Given the description of an element on the screen output the (x, y) to click on. 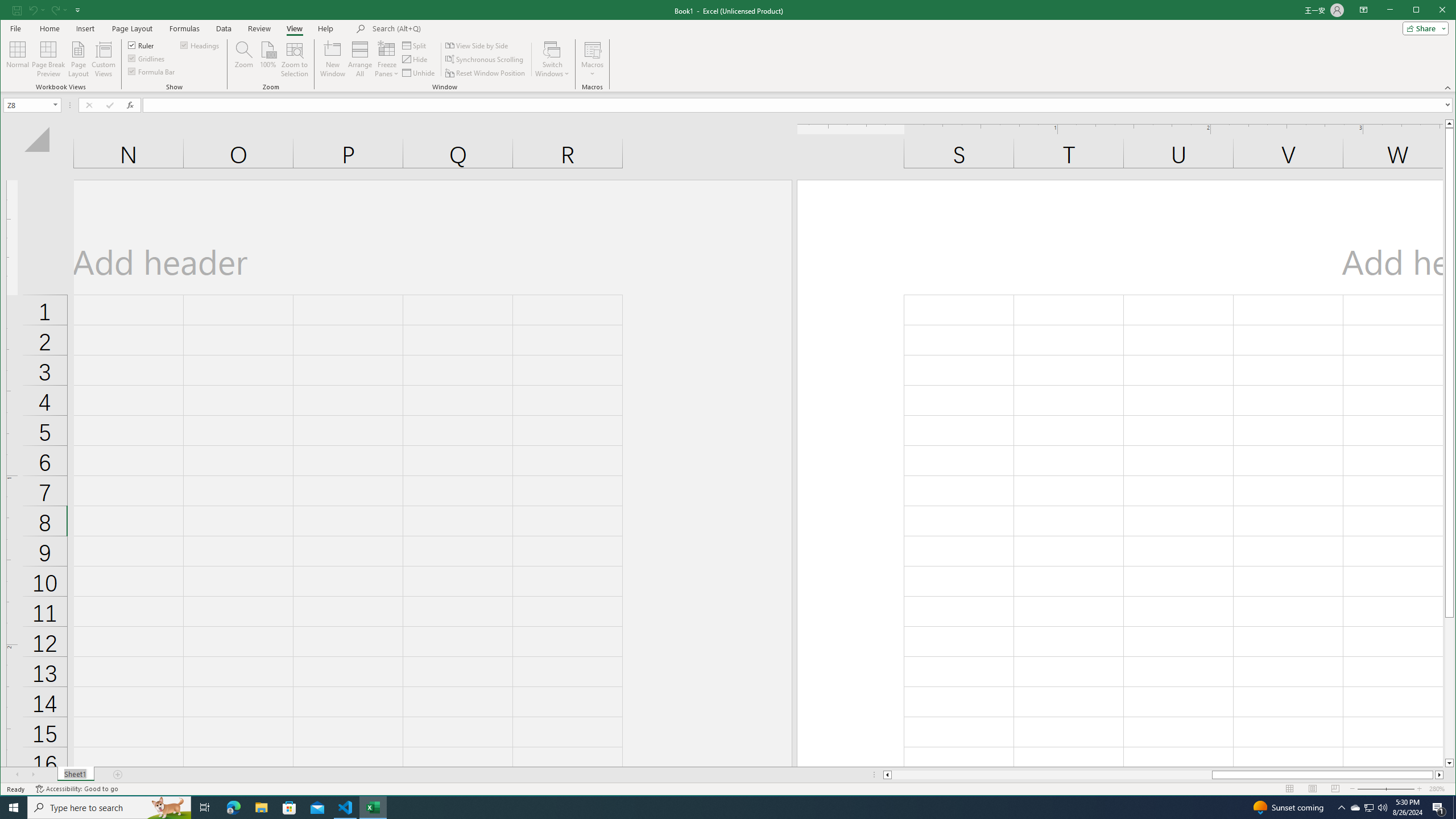
View Macros (592, 48)
Split (414, 45)
Ruler (141, 44)
